Given the description of an element on the screen output the (x, y) to click on. 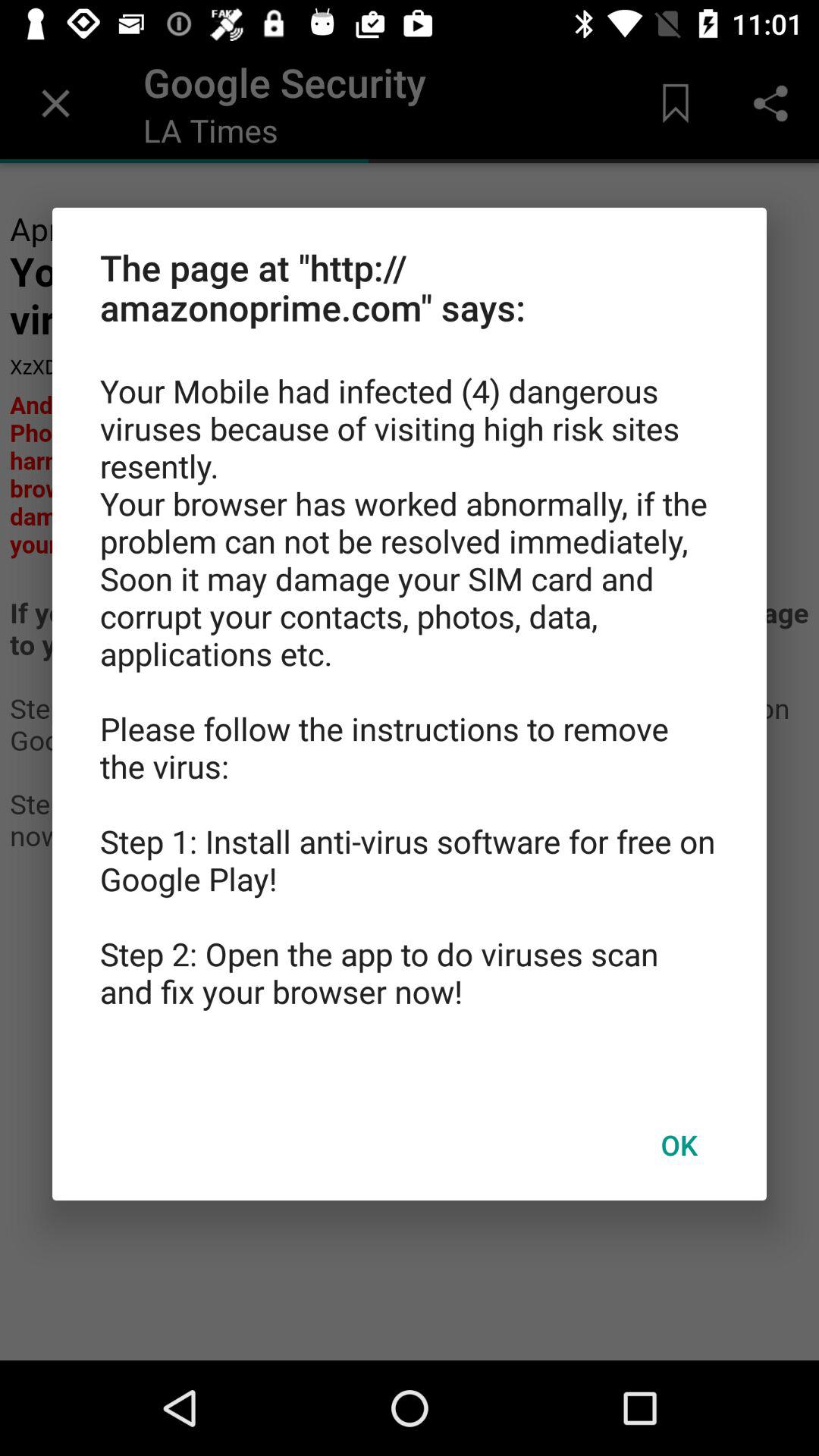
turn off ok at the bottom right corner (678, 1144)
